Given the description of an element on the screen output the (x, y) to click on. 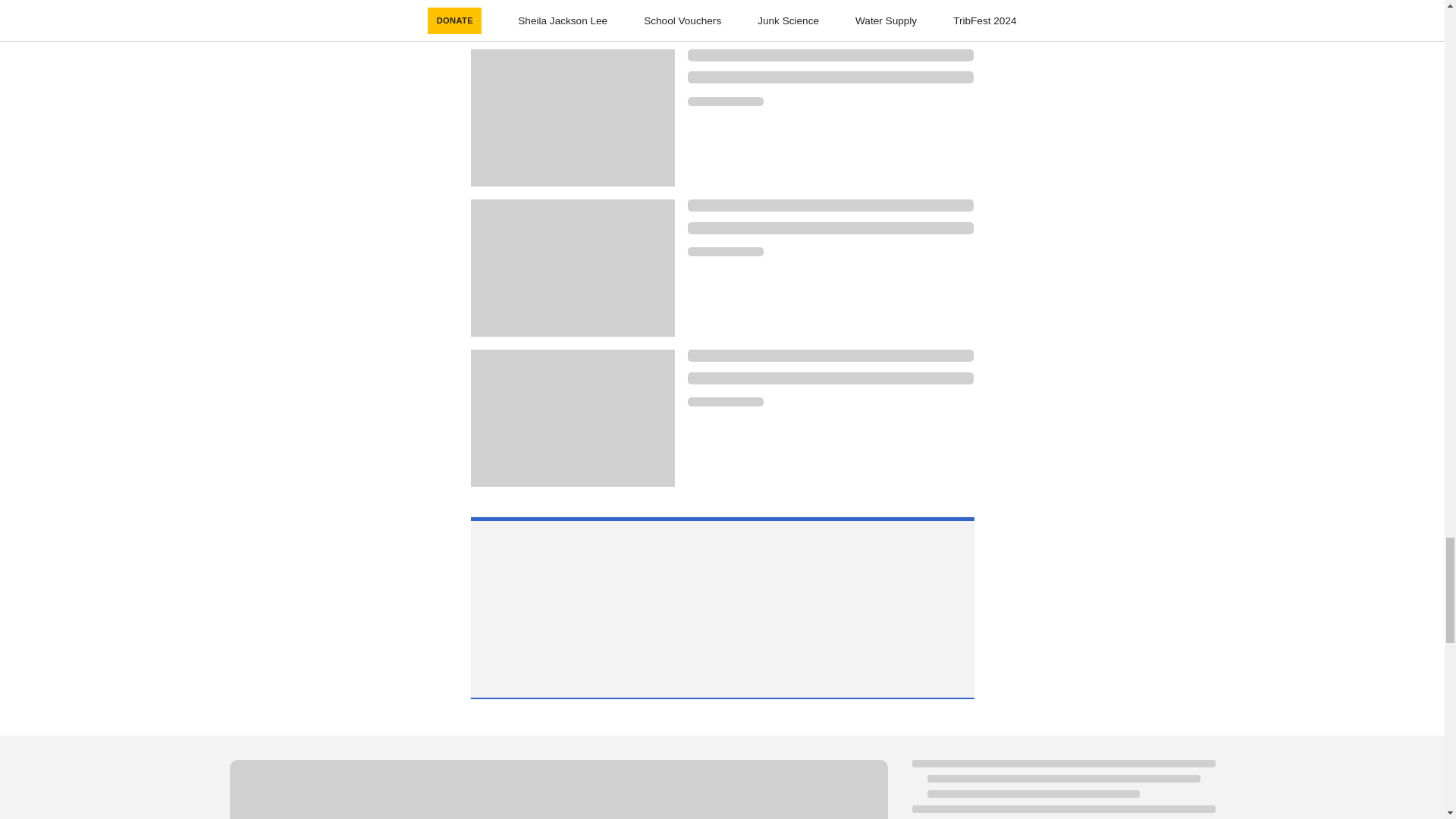
Loading indicator (830, 55)
Loading indicator (724, 101)
Loading indicator (830, 378)
Loading indicator (830, 227)
Loading indicator (557, 789)
Loading indicator (724, 251)
Loading indicator (830, 355)
Loading indicator (830, 205)
Loading indicator (724, 401)
Loading indicator (830, 77)
